Given the description of an element on the screen output the (x, y) to click on. 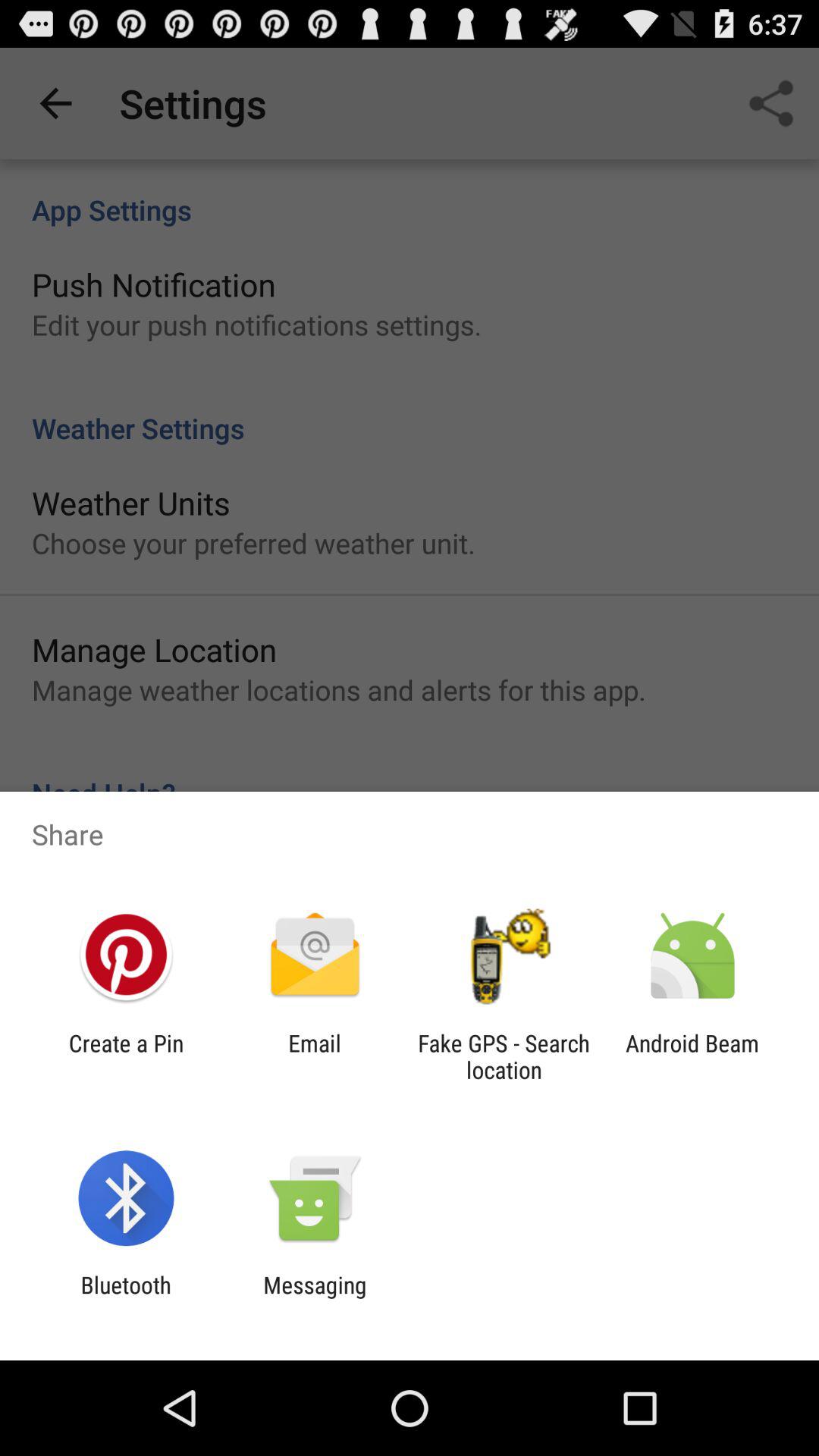
jump until android beam icon (692, 1056)
